Given the description of an element on the screen output the (x, y) to click on. 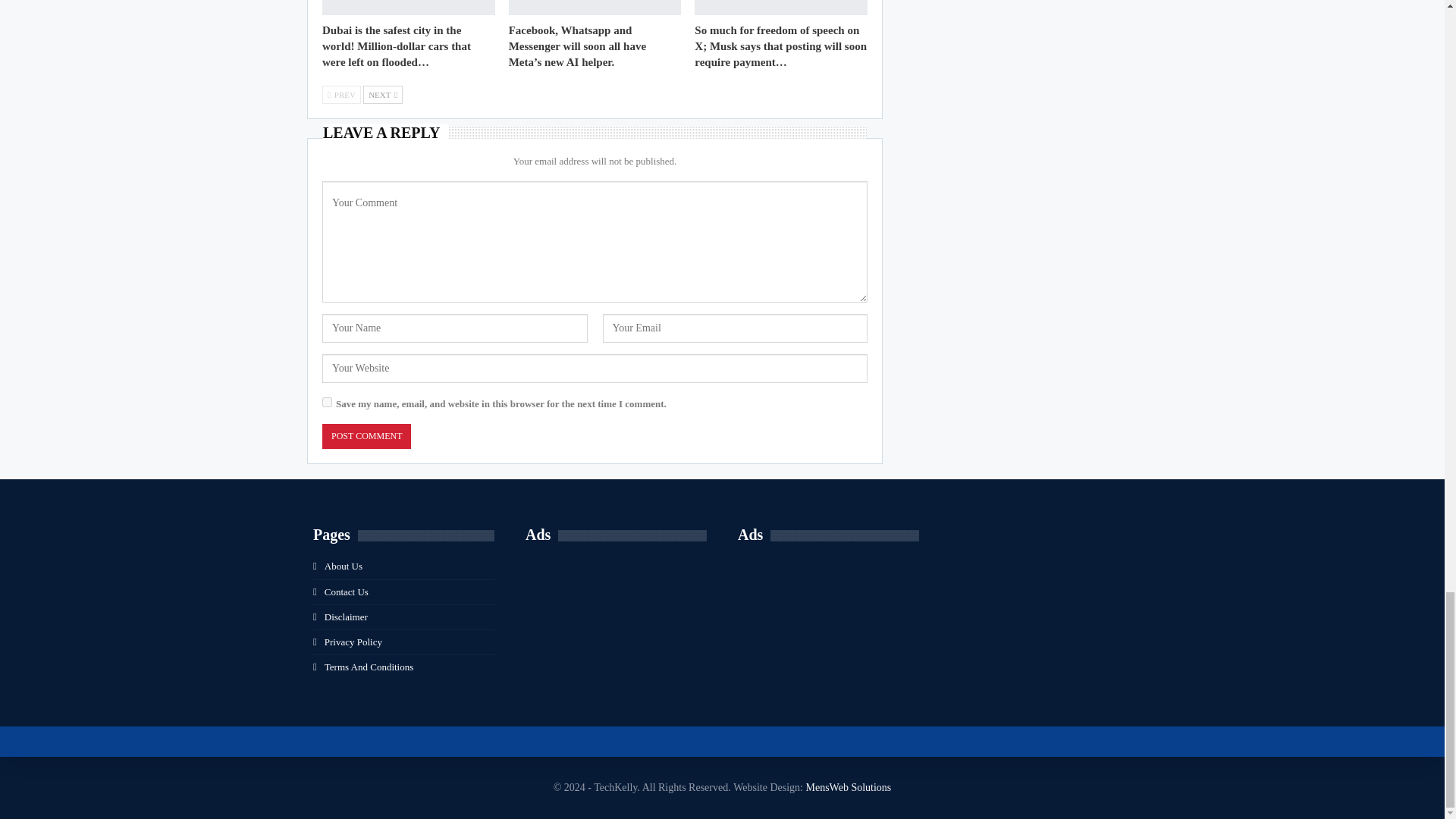
Post Comment (365, 436)
Previous (341, 94)
yes (326, 402)
